Given the description of an element on the screen output the (x, y) to click on. 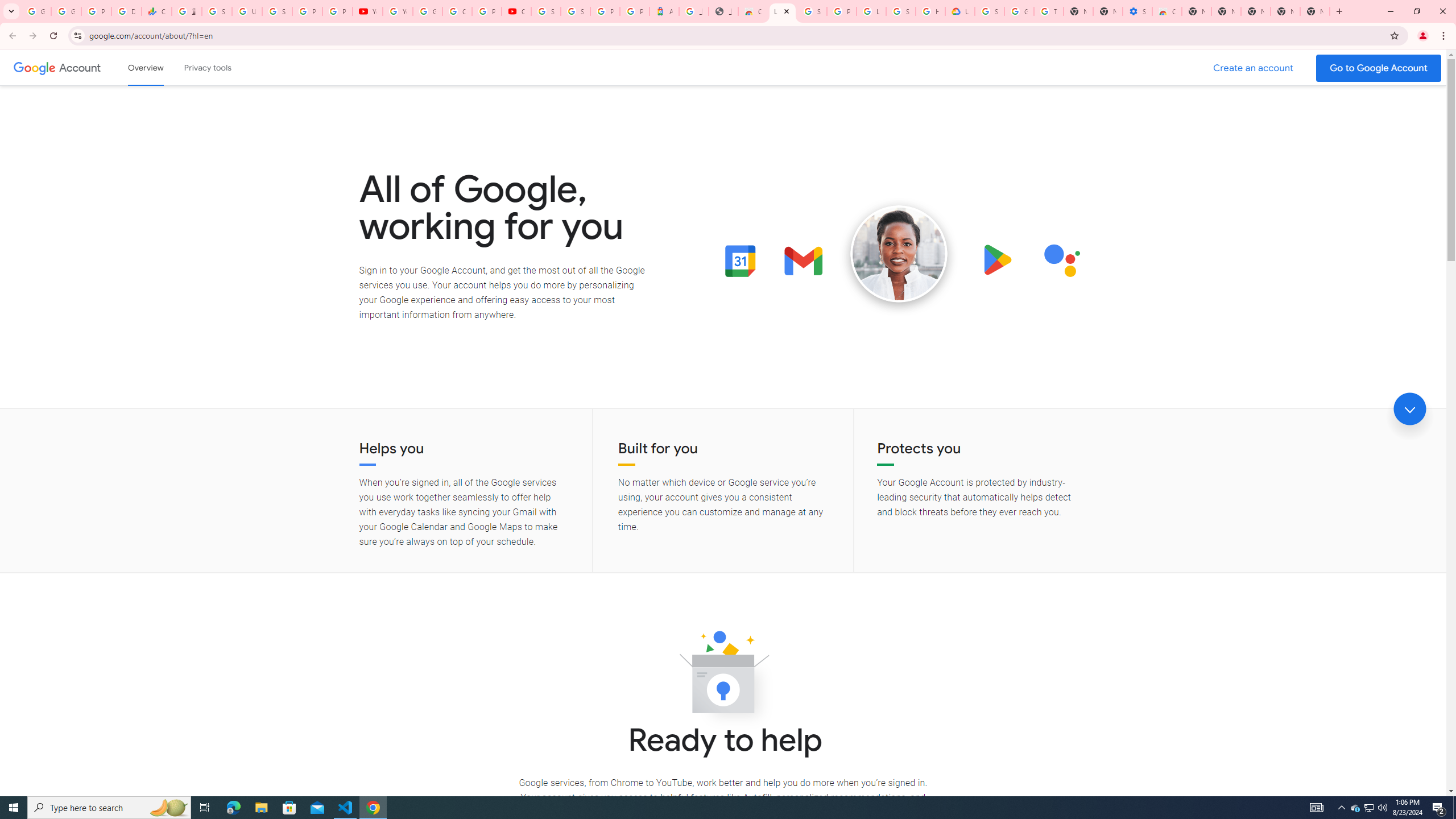
Create your Google Account (456, 11)
Google Account Help (1018, 11)
Google logo (34, 67)
Sign in - Google Accounts (989, 11)
YouTube (367, 11)
Sign in - Google Accounts (545, 11)
Sign in - Google Accounts (216, 11)
